Given the description of an element on the screen output the (x, y) to click on. 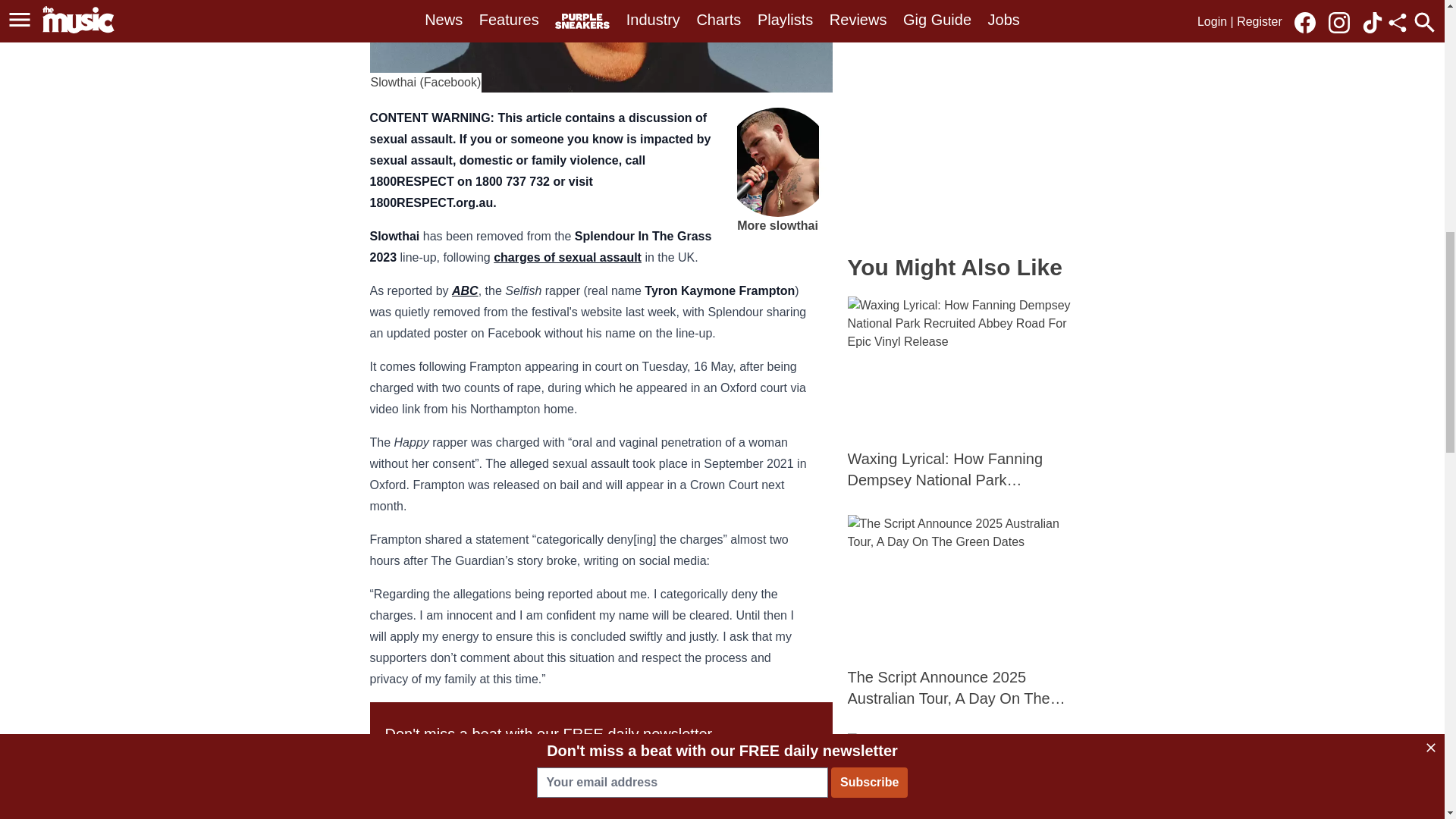
ABC (465, 290)
charges of sexual assault (567, 256)
G Flip To Hit Melbourne For Exclusive BWS Cool Room Session (961, 776)
Subscribe (715, 766)
